Given the description of an element on the screen output the (x, y) to click on. 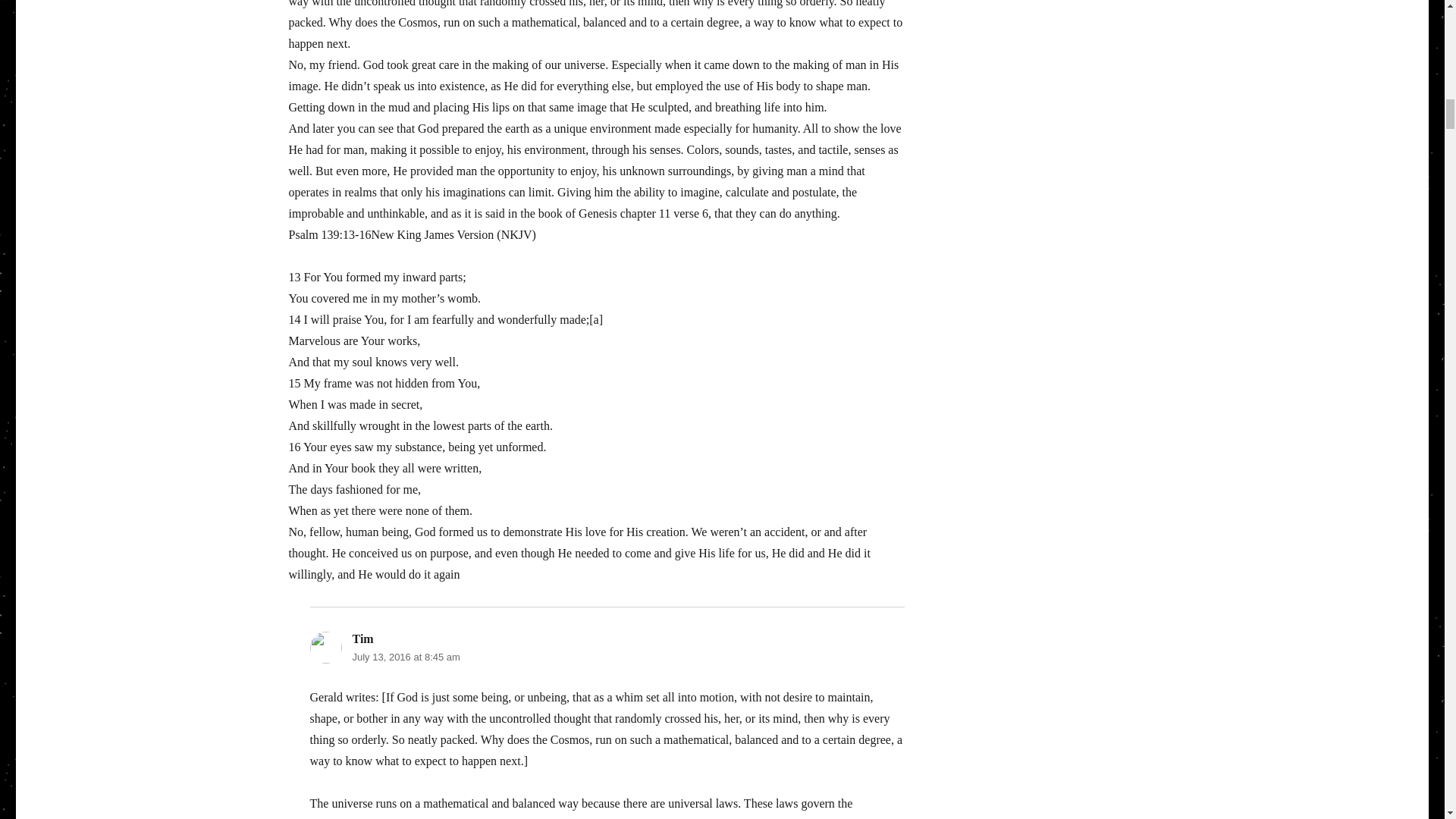
July 13, 2016 at 8:45 am (406, 656)
